Given the description of an element on the screen output the (x, y) to click on. 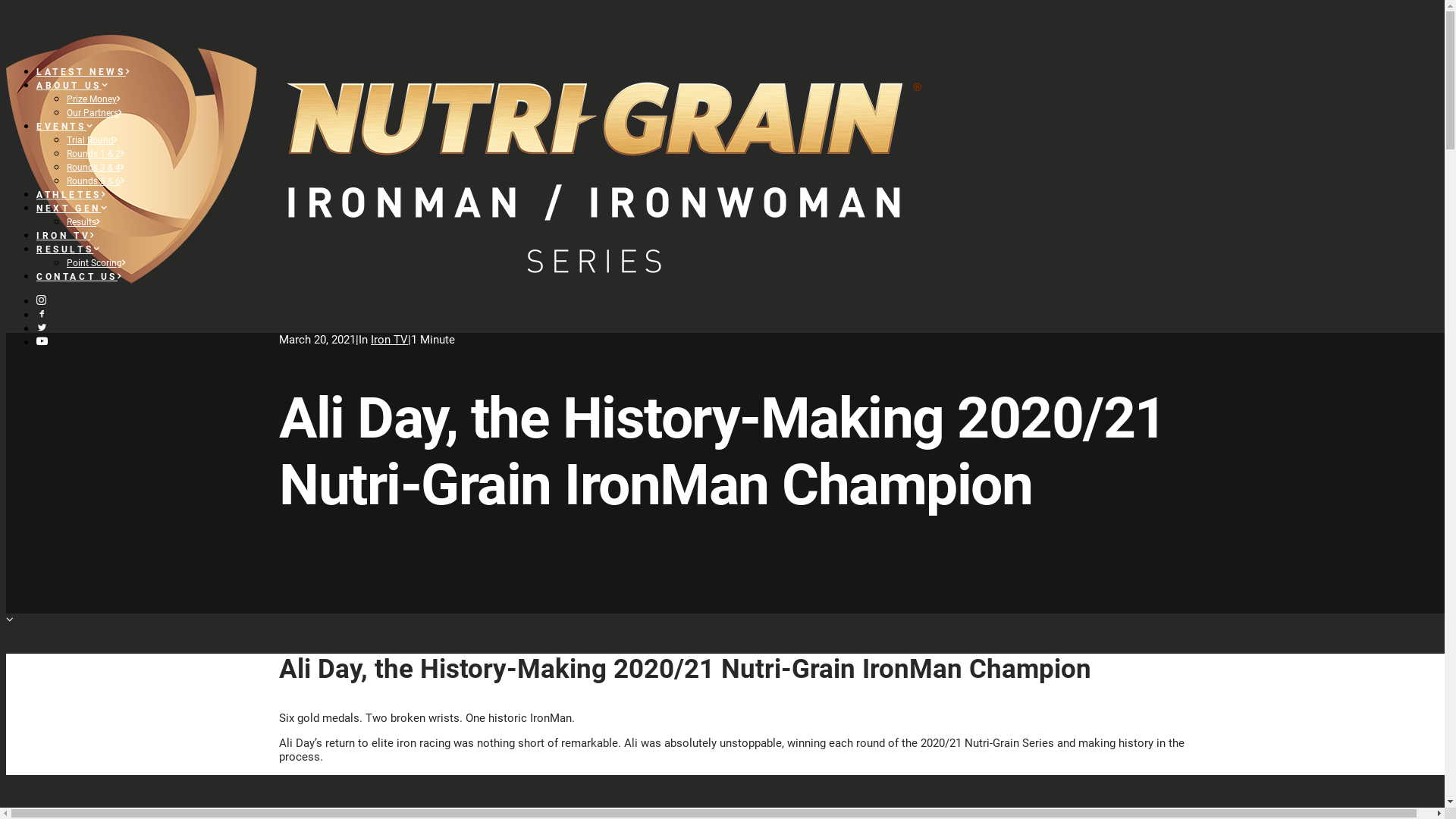
RESULTS Element type: text (69, 249)
Our Partners Element type: text (95, 112)
ATHLETES Element type: text (71, 194)
IRON TV Element type: text (66, 235)
ABOUT US Element type: text (72, 85)
Trial Round Element type: text (92, 139)
Point Scoring Element type: text (97, 262)
LATEST NEWS Element type: text (83, 71)
Rounds 5 & 6 Element type: text (96, 180)
Iron TV Element type: text (388, 339)
Rounds 1 & 2 Element type: text (96, 153)
Prize Money Element type: text (94, 99)
Rounds 3 & 4 Element type: text (96, 167)
NEXT GEN Element type: text (72, 208)
CONTACT US Element type: text (79, 276)
Results Element type: text (84, 221)
EVENTS Element type: text (65, 126)
